Given the description of an element on the screen output the (x, y) to click on. 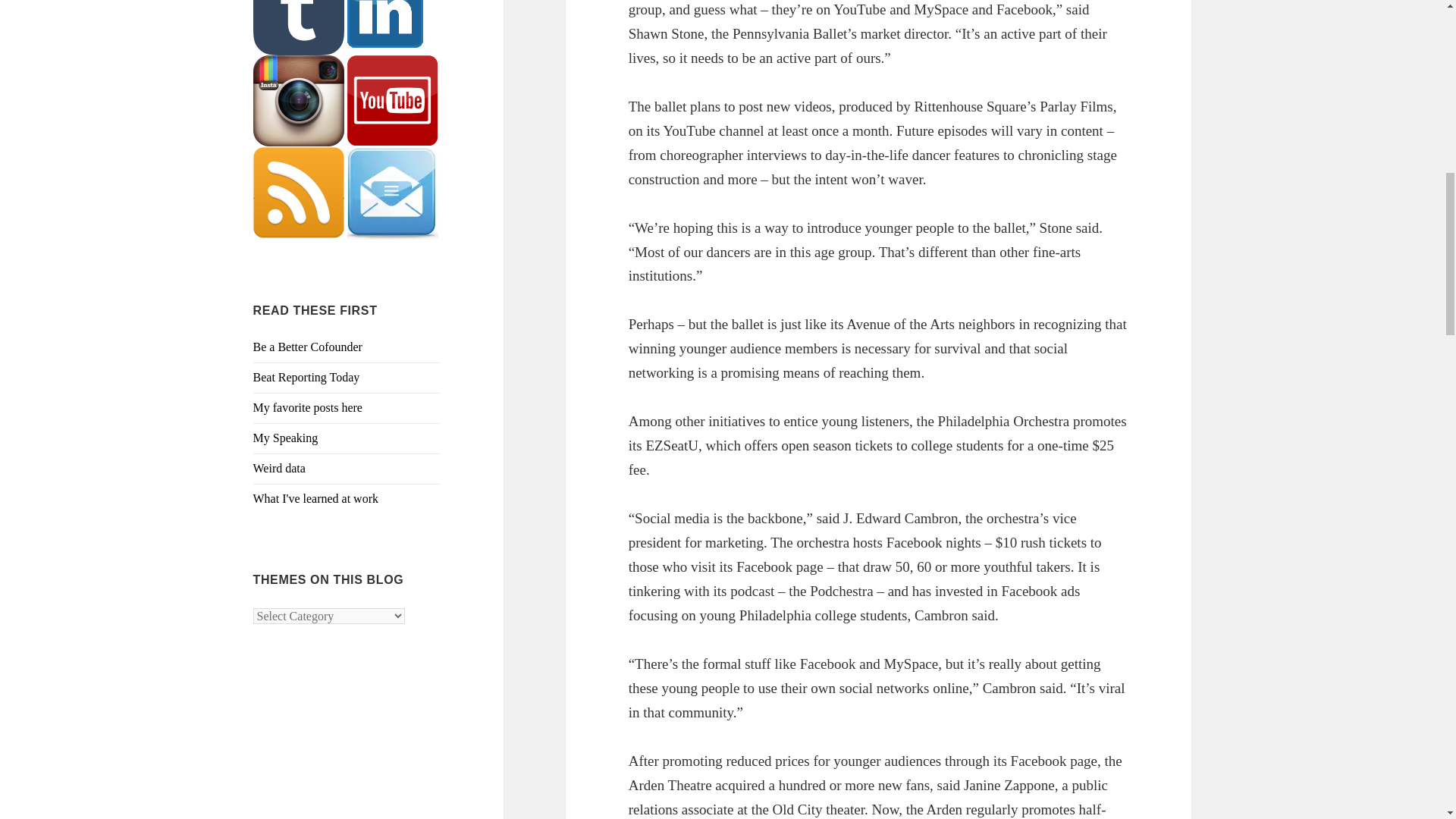
Examples of my public speaking (285, 437)
Beat Reporting Today (306, 377)
My favorite posts here (307, 407)
The best read and most popular writing here (307, 407)
Posts I write to quantify unexpected stuff (279, 468)
My Speaking (285, 437)
Be a Better Cofounder (307, 346)
Weird data (279, 468)
What I've learned at work (315, 498)
